Given the description of an element on the screen output the (x, y) to click on. 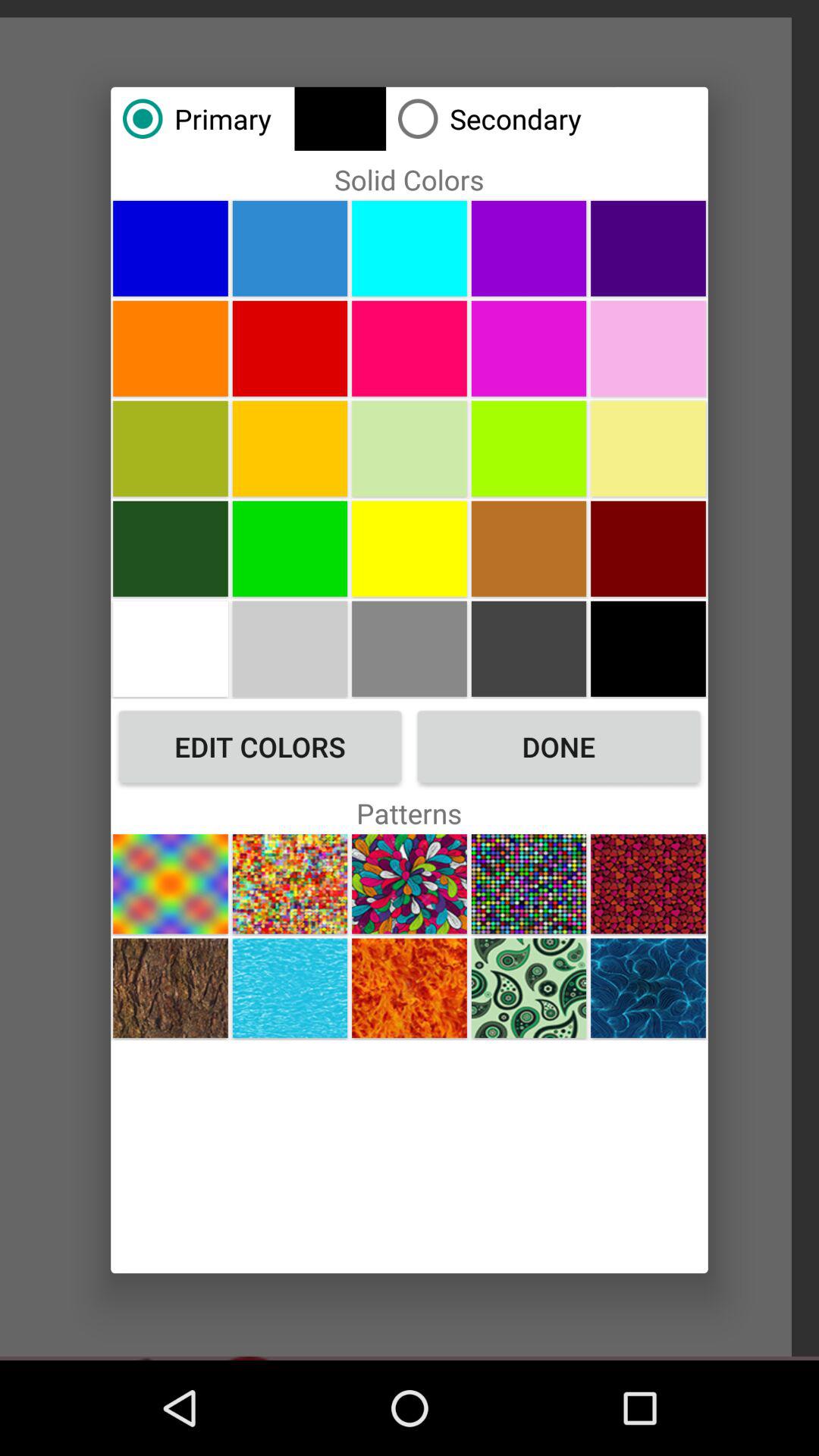
go to picture (528, 648)
